Given the description of an element on the screen output the (x, y) to click on. 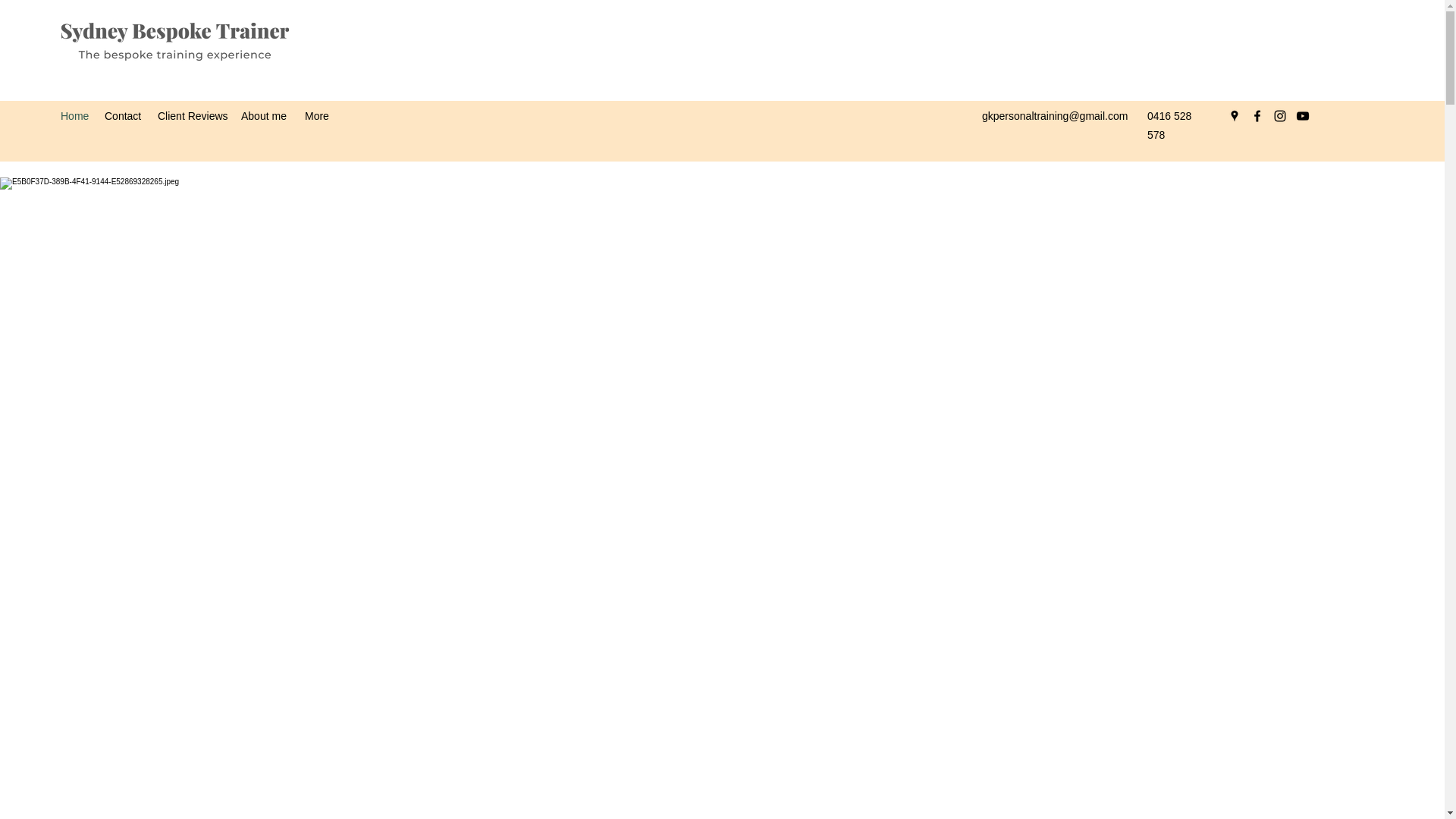
Client Reviews (190, 115)
Contact (123, 115)
Home (74, 115)
About me (264, 115)
